Given the description of an element on the screen output the (x, y) to click on. 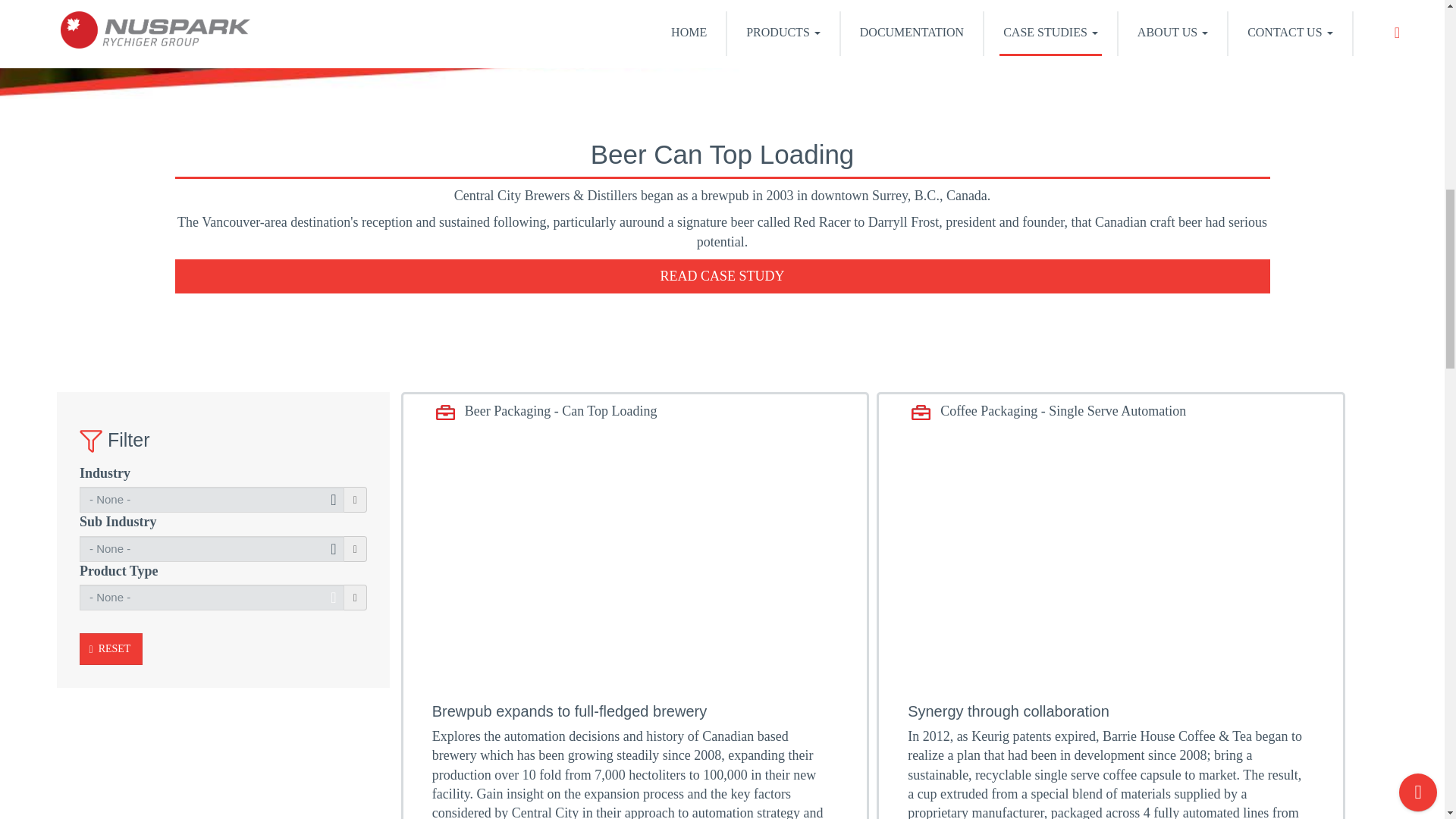
RESET (111, 649)
Coffee Packaging - Single Serve Automation (1061, 410)
Beer Packaging - Can Top Loading (559, 410)
READ CASE STUDY (721, 276)
